Given the description of an element on the screen output the (x, y) to click on. 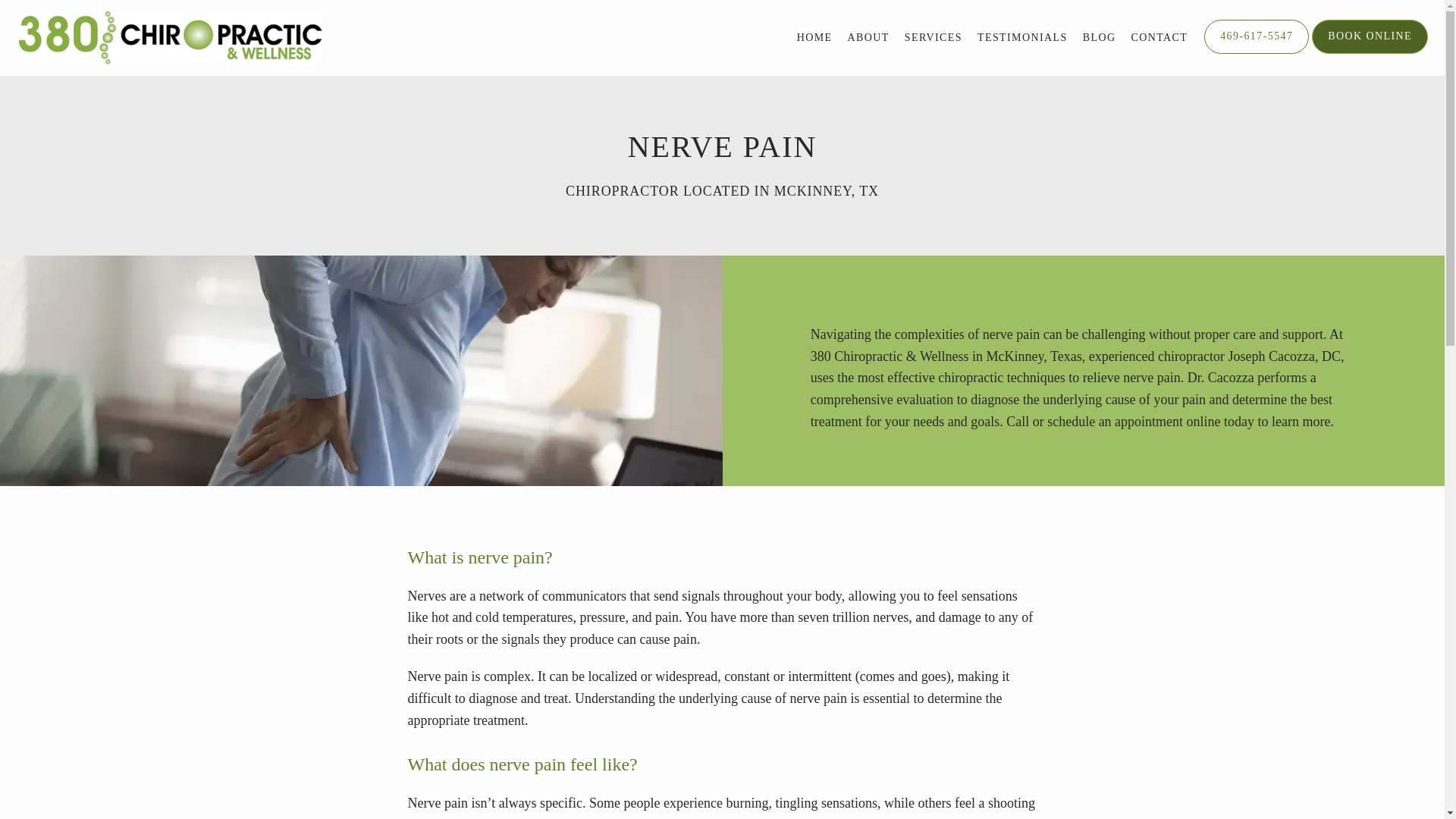
469-617-5547 (1256, 51)
BLOG (1099, 37)
ABOUT (868, 37)
SERVICES (933, 37)
HOME (814, 37)
CONTACT (1159, 37)
BOOK ONLINE (1369, 51)
TESTIMONIALS (1021, 37)
